Given the description of an element on the screen output the (x, y) to click on. 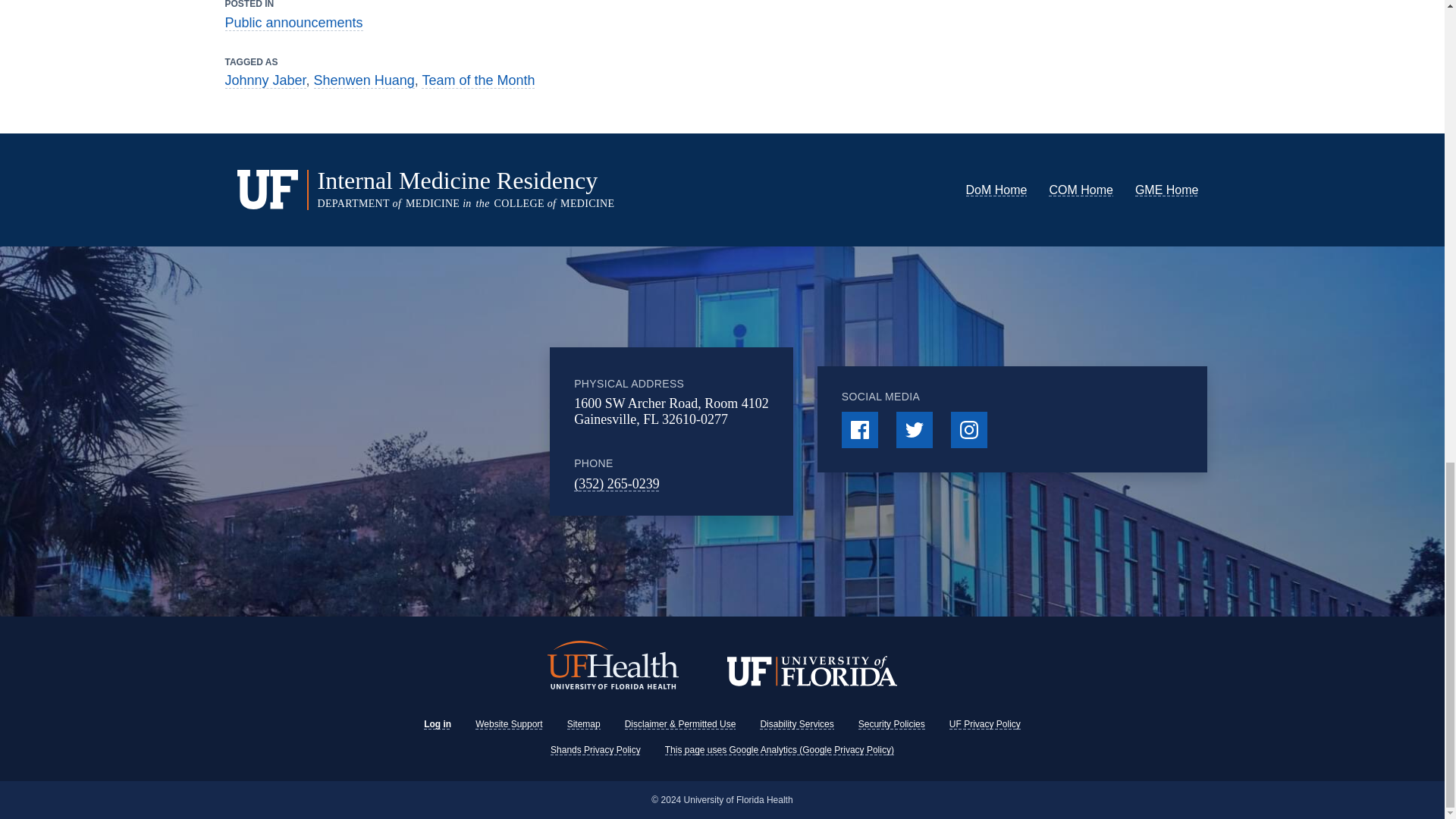
Google Maps Embed (440, 431)
Disability Services (796, 724)
Security Policies (891, 724)
COM Home (1080, 189)
Sitemap (583, 724)
UF Privacy Policy (984, 724)
Website Support (509, 724)
Log in (437, 724)
Shands Privacy Policy (595, 749)
GME Home (1166, 189)
DoM Home (996, 189)
